Given the description of an element on the screen output the (x, y) to click on. 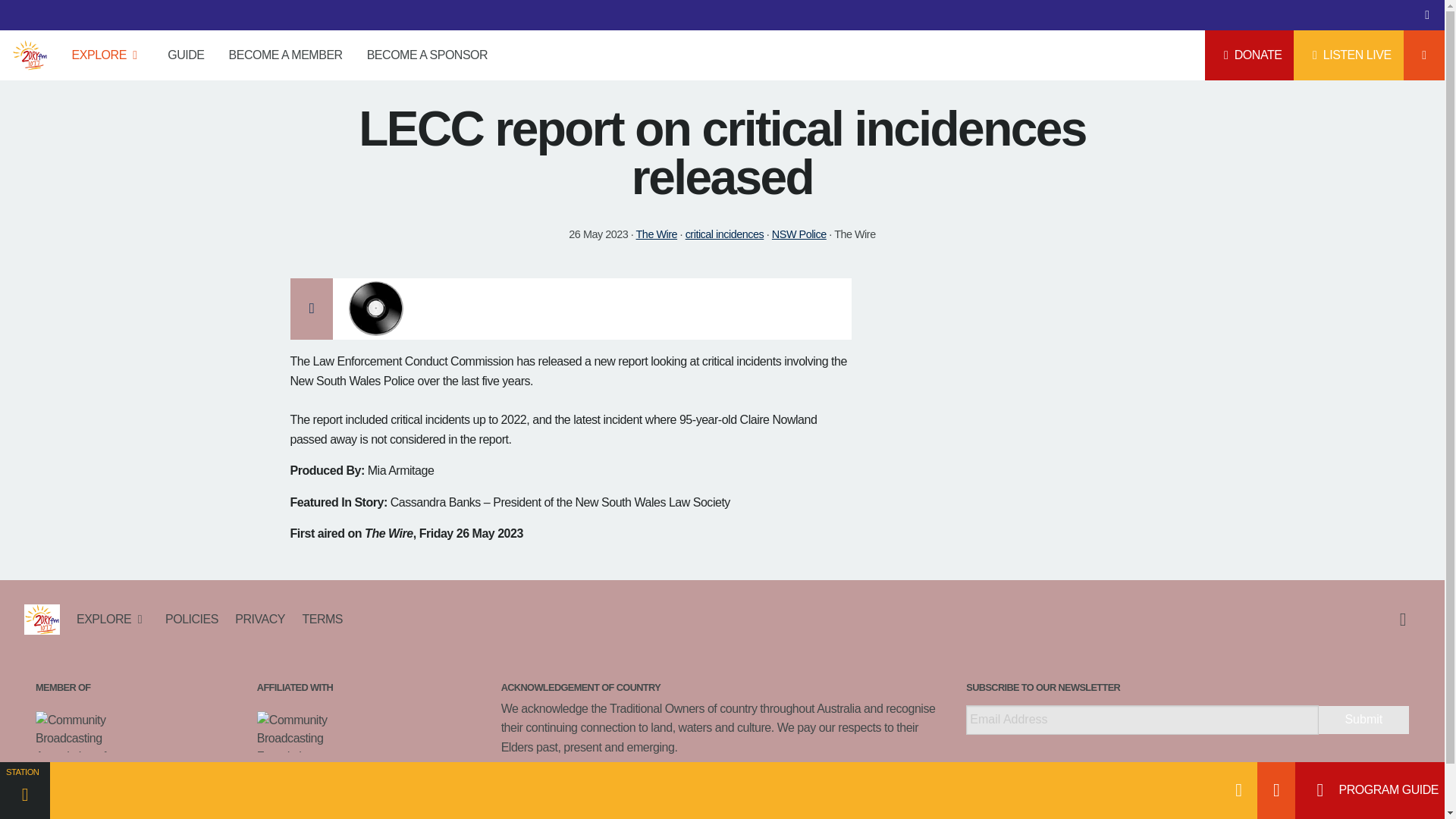
DONATE (1249, 55)
TERMS (318, 619)
critical incidences (724, 234)
EXPLORE (107, 55)
NSW Police (799, 234)
Submit (1364, 719)
BECOME A MEMBER (285, 55)
POLICIES (192, 619)
PRIVACY (260, 619)
